Given the description of an element on the screen output the (x, y) to click on. 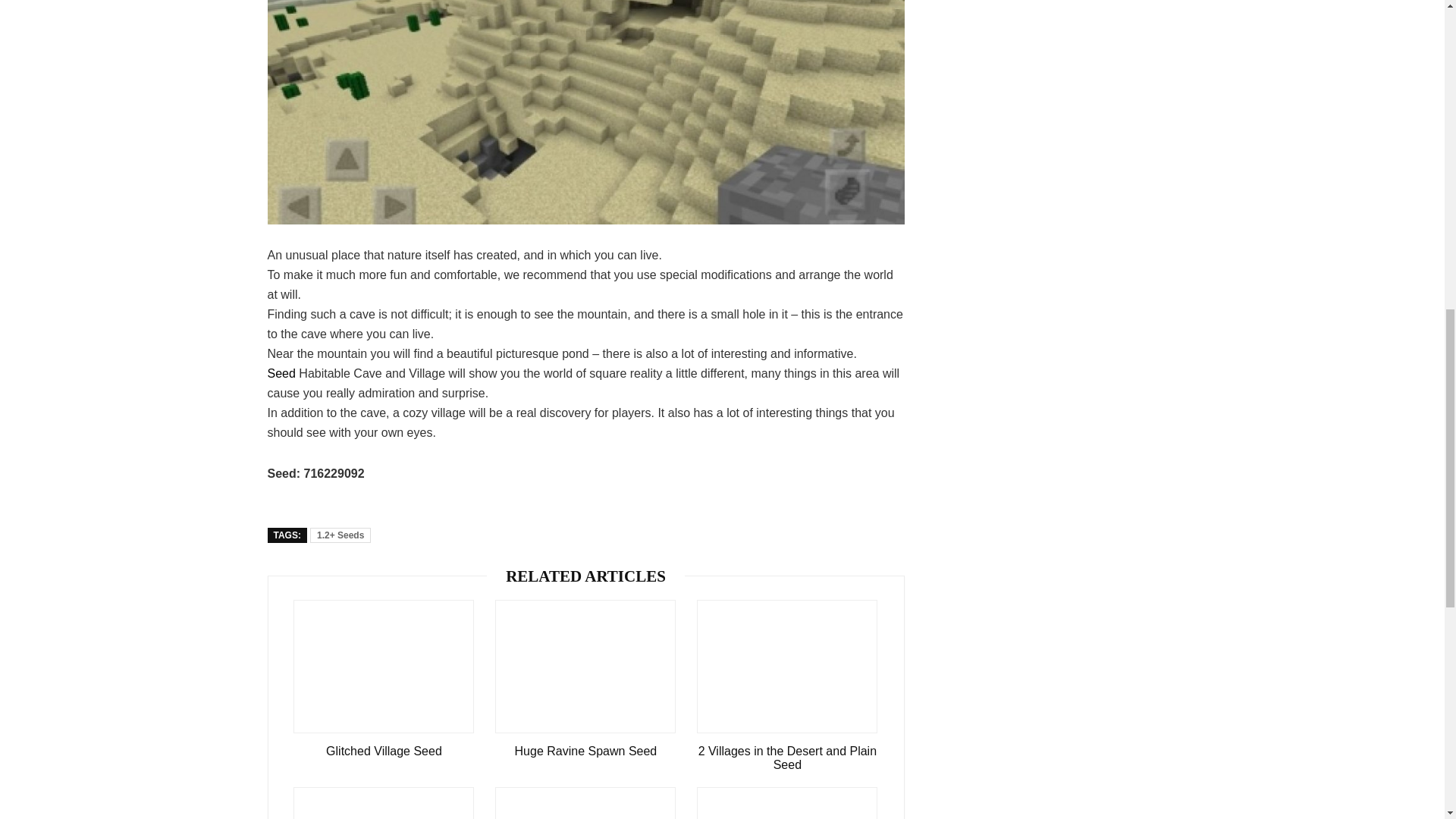
Glitched Village Seed (384, 751)
Glitched Village Seed (384, 751)
2 Villages in the Desert and Plain Seed (787, 758)
Seed (280, 373)
Huge Ravine Spawn Seed (585, 751)
2 Villages in the Desert and Plain Seed (787, 758)
Huge Ravine Spawn Seed (585, 751)
